Given the description of an element on the screen output the (x, y) to click on. 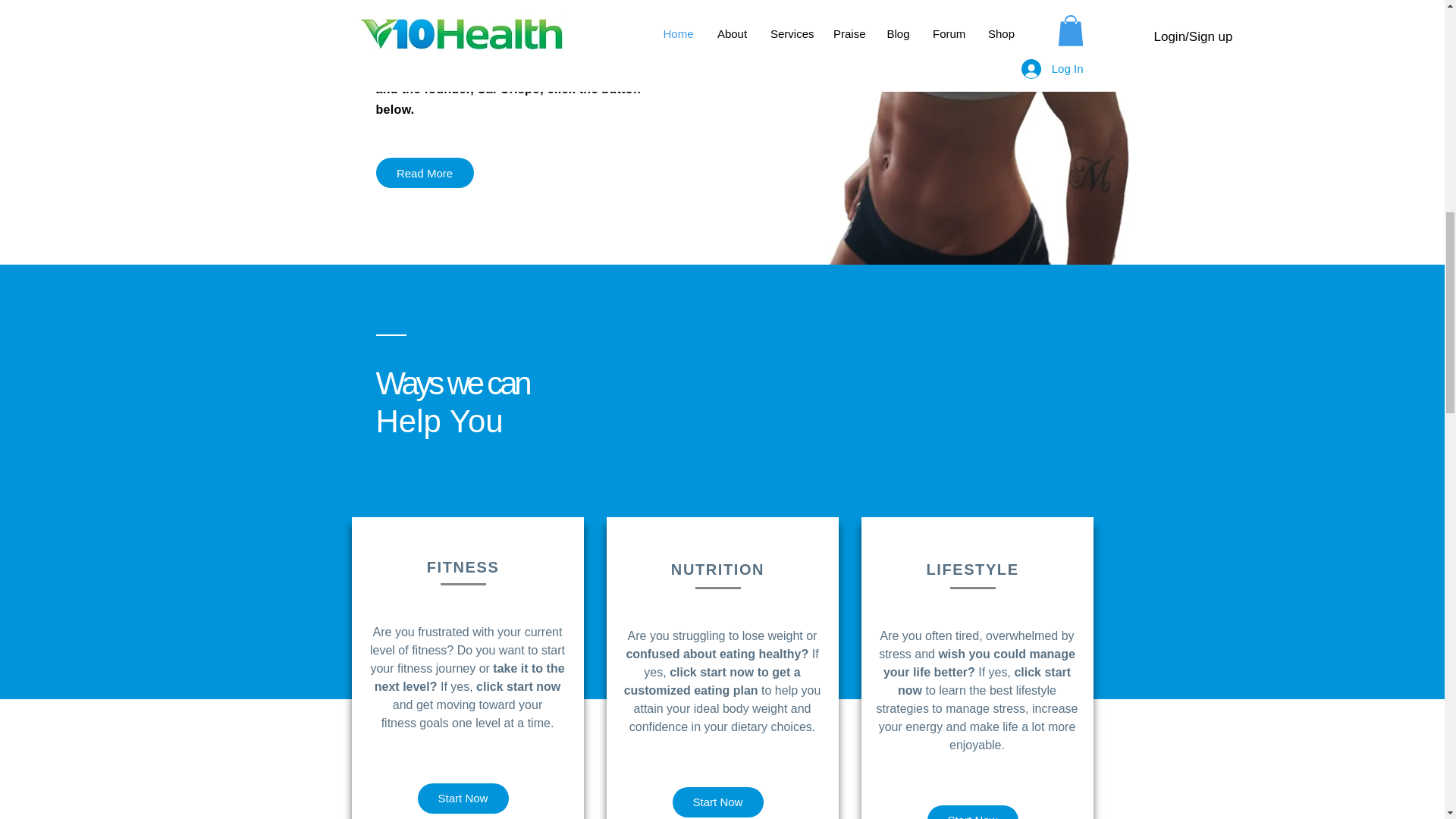
Start Now (716, 802)
Read More (424, 173)
Start Now (971, 812)
Start Now (462, 798)
